Given the description of an element on the screen output the (x, y) to click on. 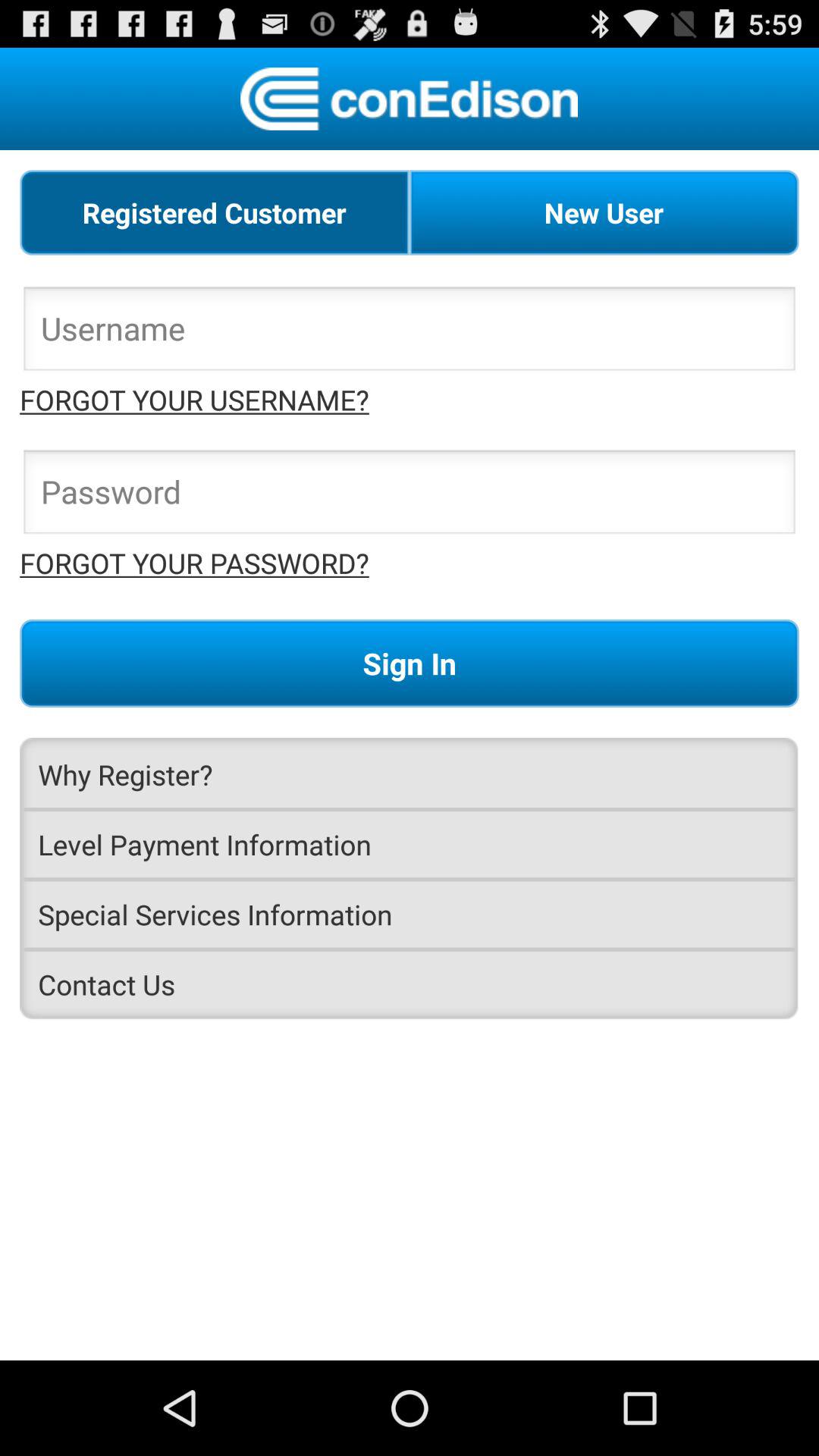
write the password to sign in (409, 496)
